Given the description of an element on the screen output the (x, y) to click on. 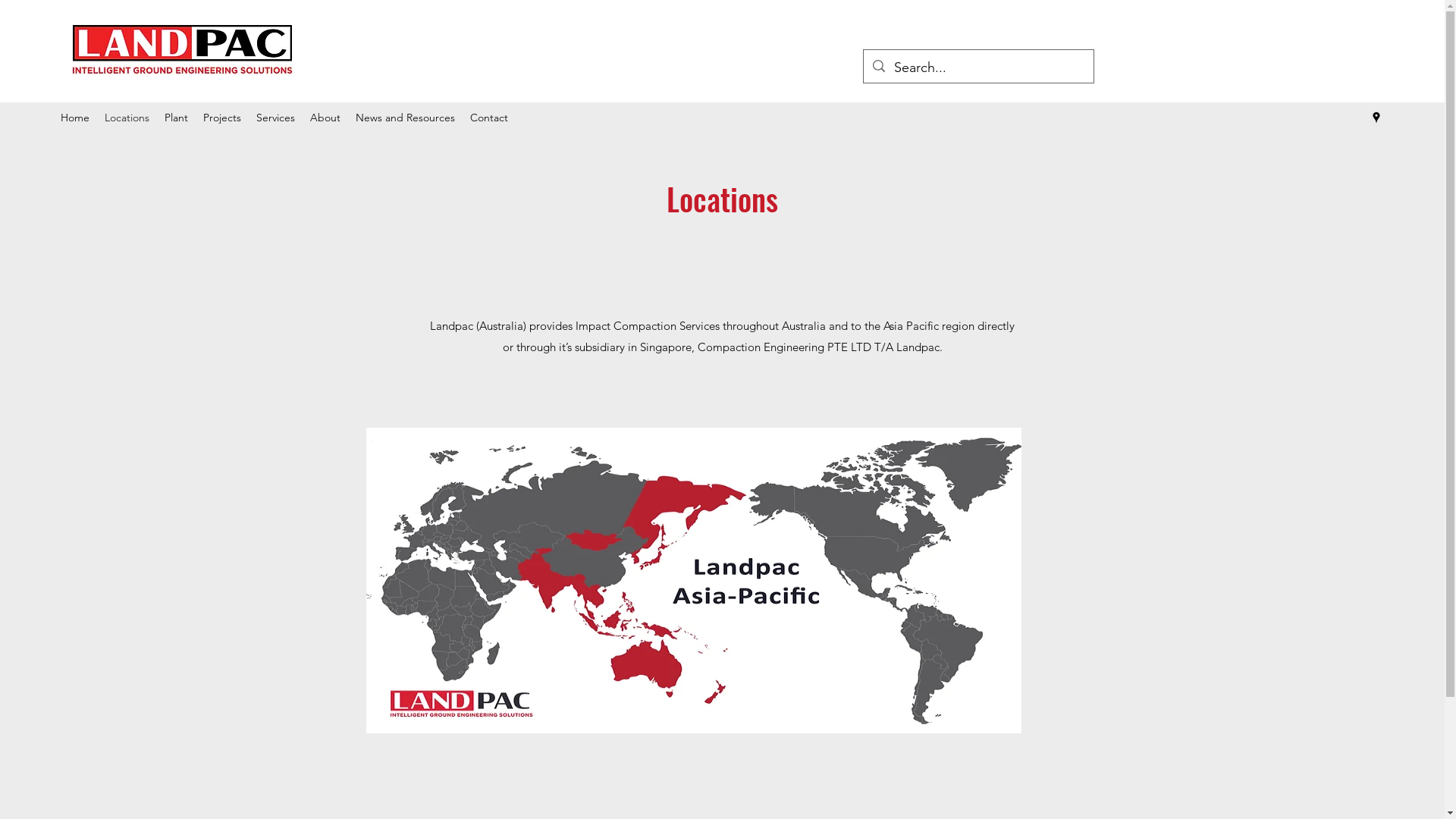
Locations Element type: text (126, 117)
Projects Element type: text (221, 117)
News and Resources Element type: text (405, 117)
Services Element type: text (275, 117)
Plant Element type: text (175, 117)
Home Element type: text (75, 117)
Contact Element type: text (488, 117)
About Element type: text (325, 117)
